Given the description of an element on the screen output the (x, y) to click on. 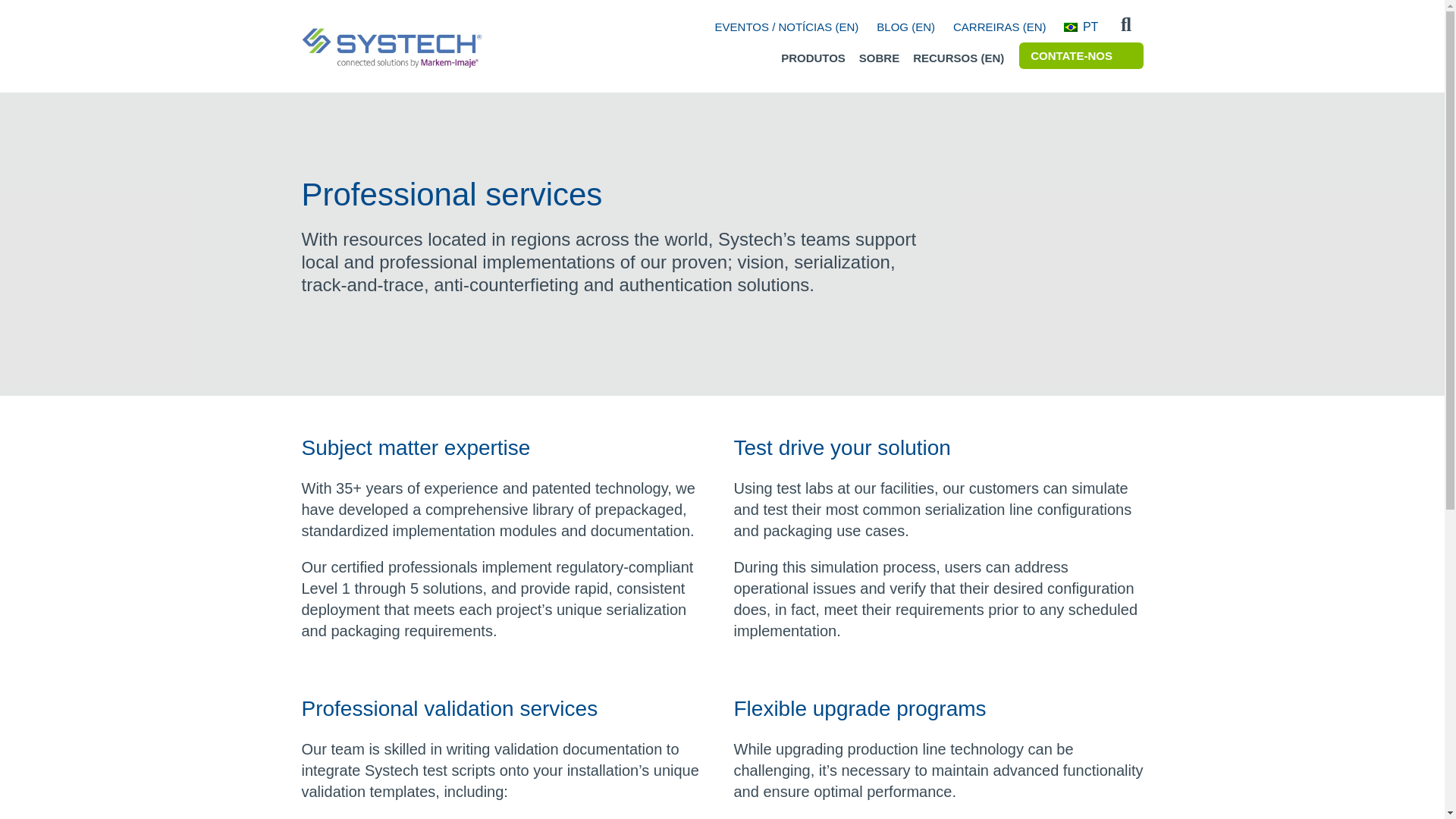
PRODUTOS (812, 57)
SOBRE (879, 57)
CONTATE-NOS (1080, 55)
